Given the description of an element on the screen output the (x, y) to click on. 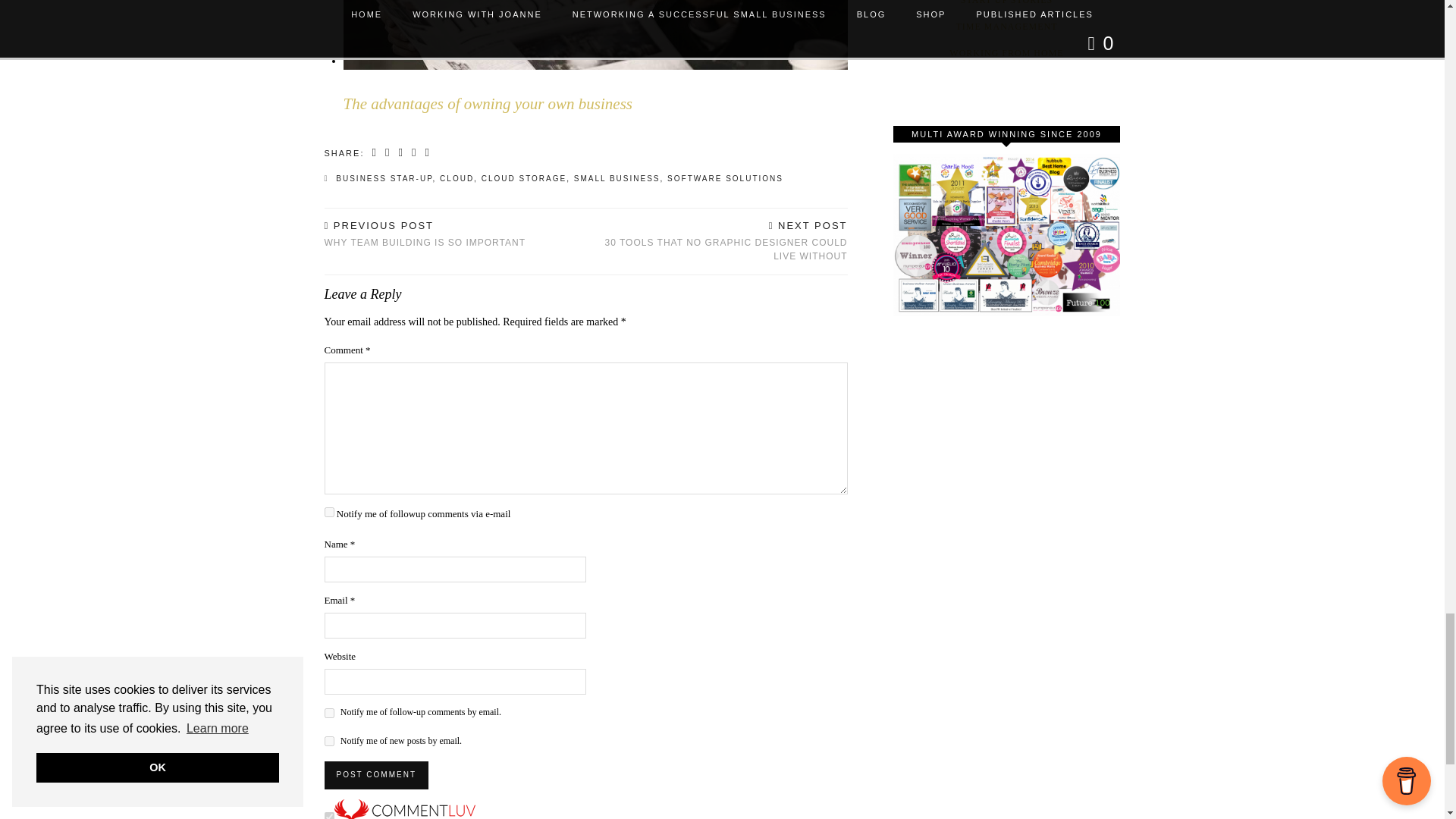
on (329, 815)
The advantages of owning your own business (569, 60)
subscribe (329, 741)
subscribe (329, 511)
The advantages of owning your own business (486, 104)
BUSINESS STAR-UP (384, 178)
Post Comment (376, 774)
subscribe (329, 713)
